Given the description of an element on the screen output the (x, y) to click on. 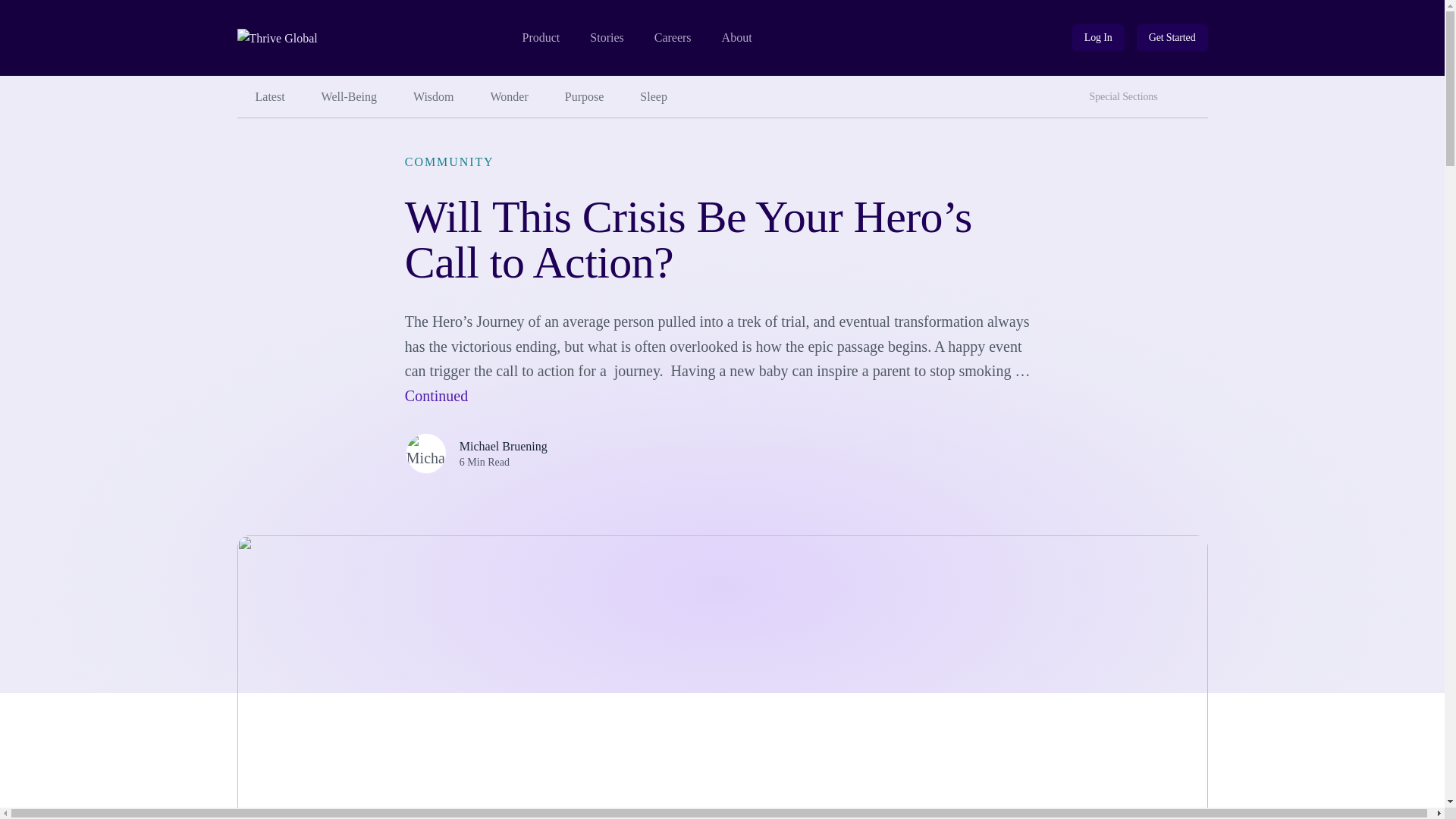
btn-primary (1172, 37)
Wisdom (432, 96)
Purpose (585, 96)
Special Sections (1126, 97)
btn-info (1097, 37)
Sleep (653, 96)
Latest (268, 96)
Get Started (1172, 37)
Log In (1097, 37)
